Given the description of an element on the screen output the (x, y) to click on. 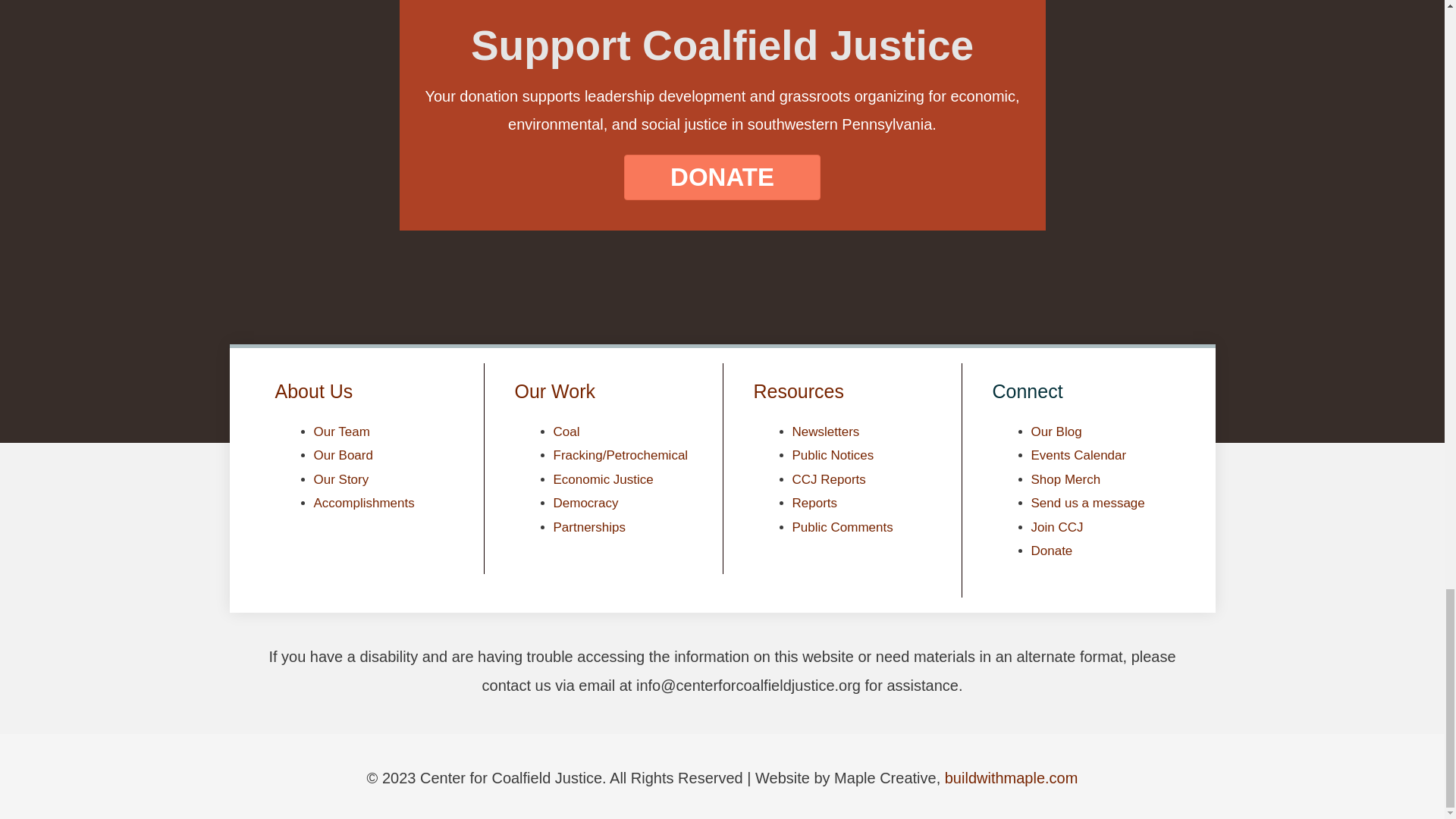
About Us (313, 391)
Resources (799, 391)
Our Work (554, 391)
